Given the description of an element on the screen output the (x, y) to click on. 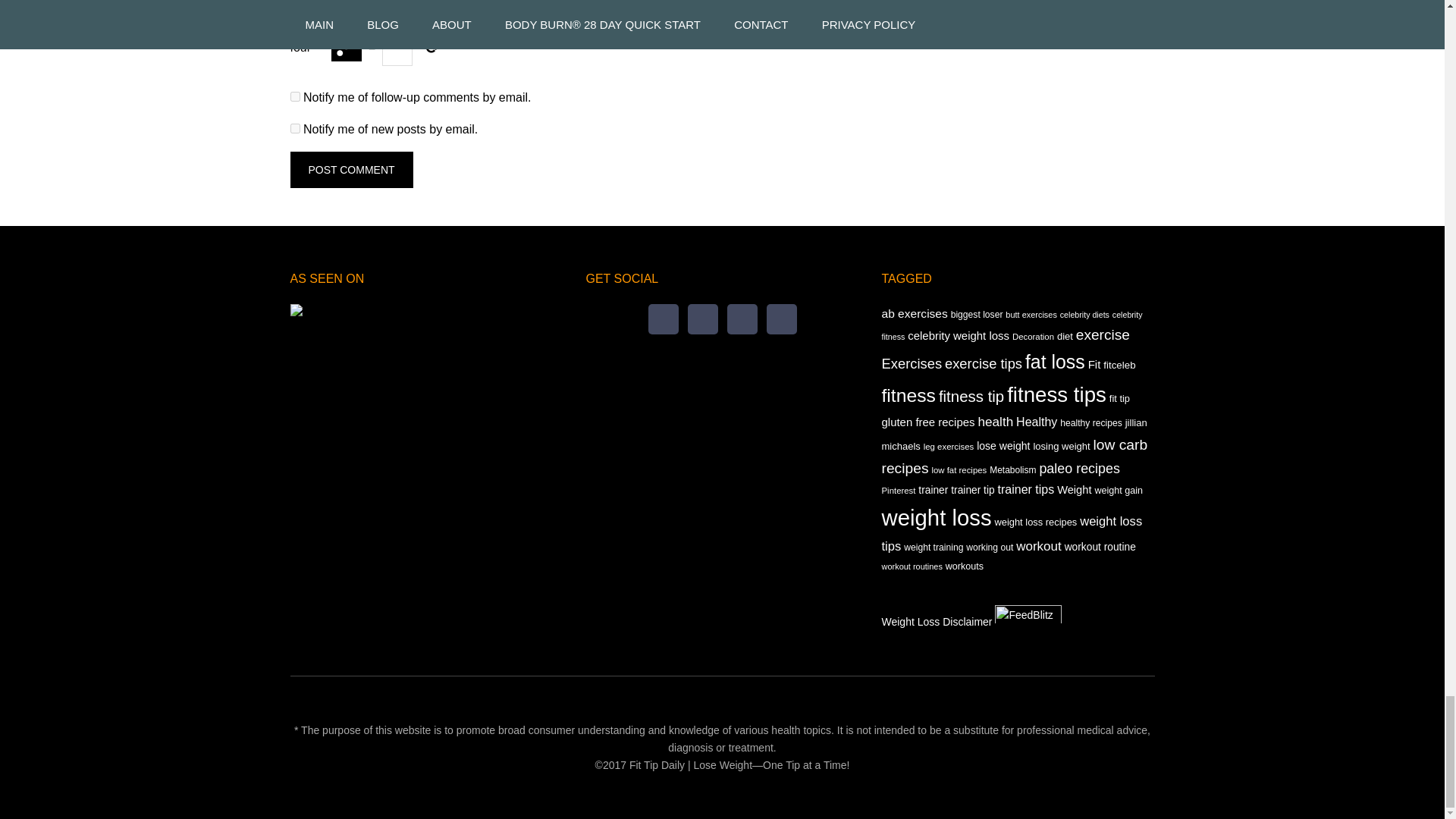
subscribe (294, 96)
subscribe (294, 128)
Post Comment (350, 169)
